Given the description of an element on the screen output the (x, y) to click on. 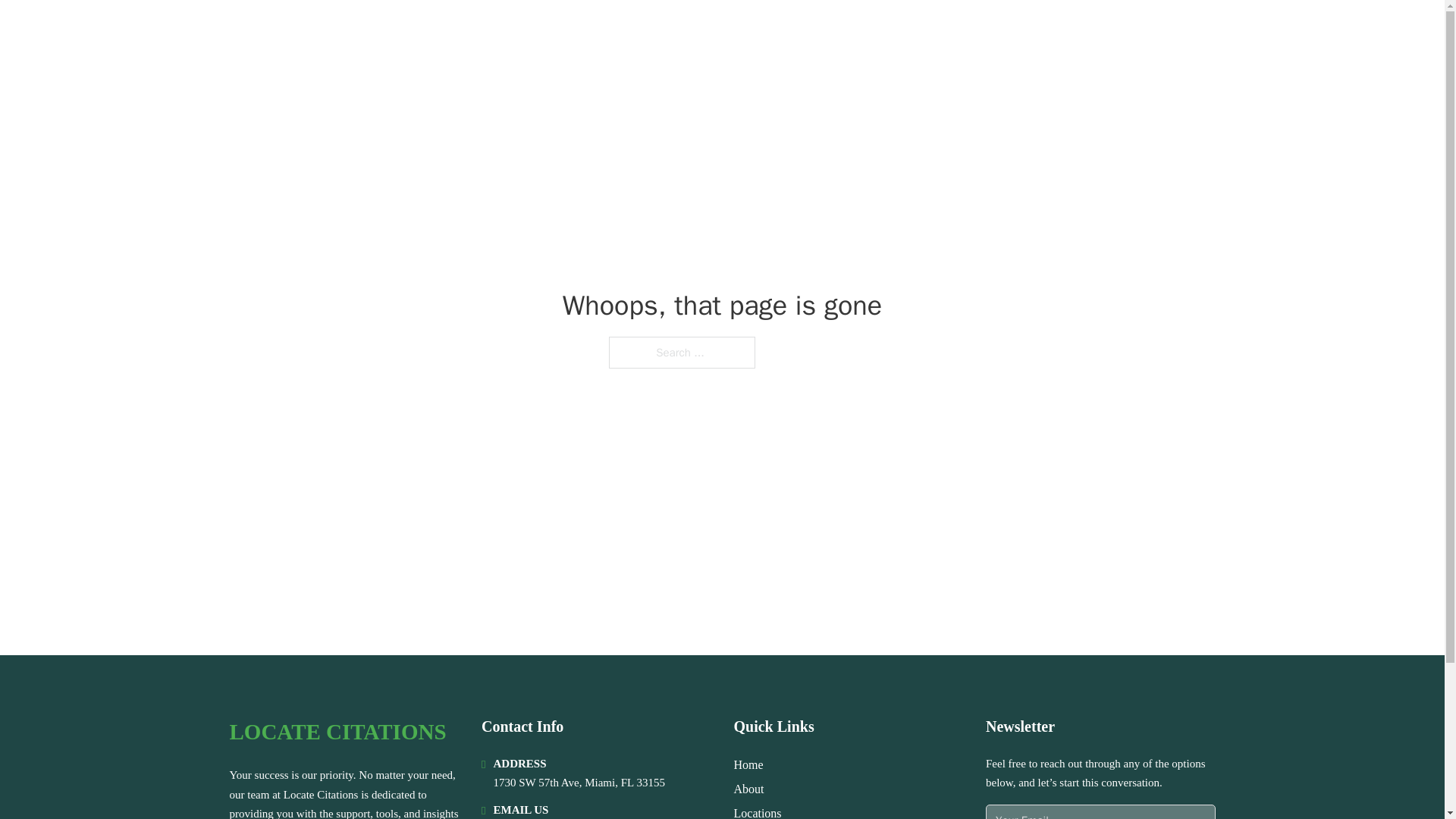
About (748, 788)
LOCATE CITATIONS (336, 732)
HOME (1025, 31)
LOCATE CITATIONS (348, 31)
LOCATIONS (1098, 31)
Locations (757, 811)
Home (747, 764)
